Given the description of an element on the screen output the (x, y) to click on. 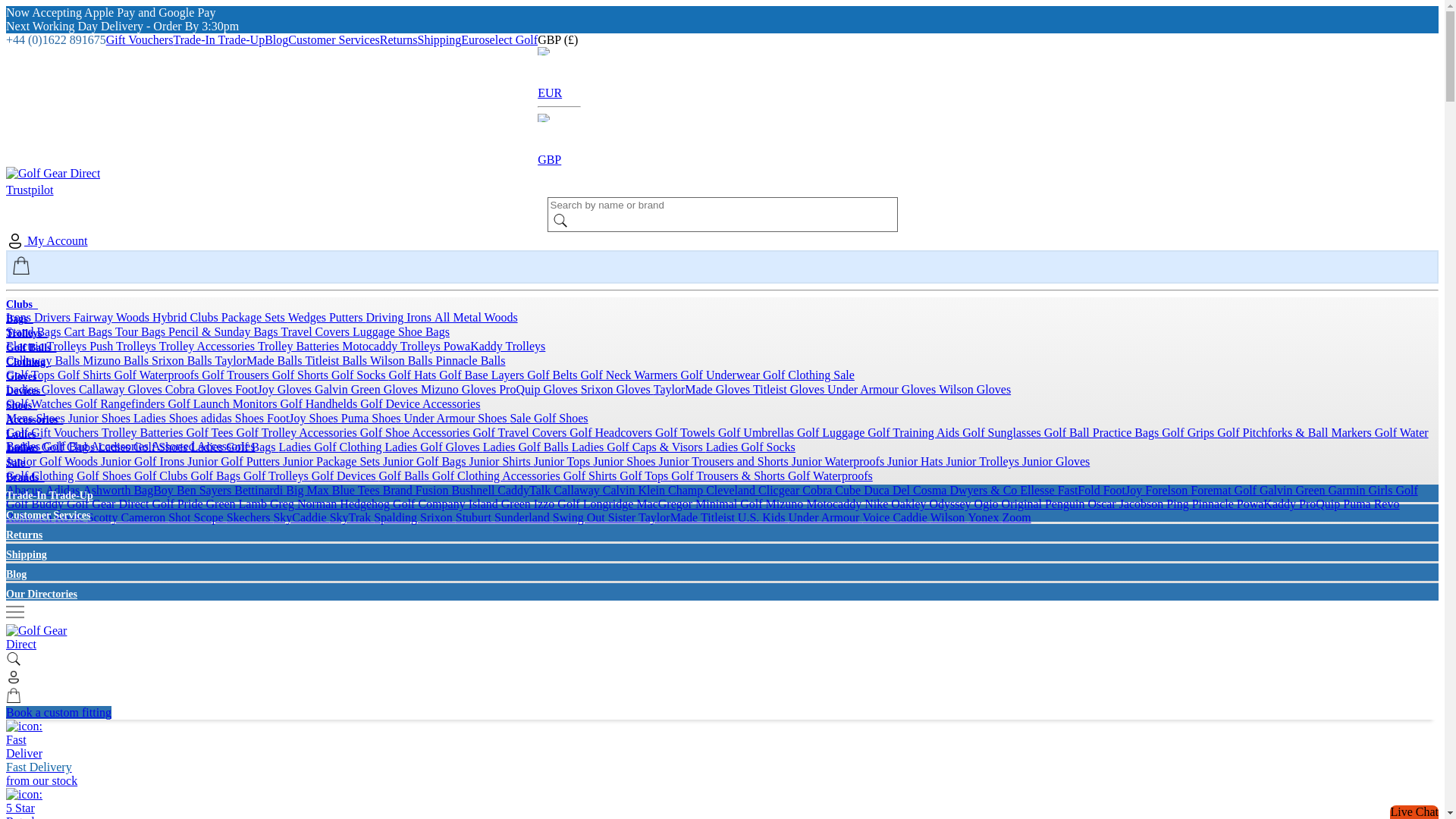
Putters (347, 317)
Fairway Woods (113, 317)
Driving Irons (399, 317)
Clubs   (21, 304)
EUR (558, 85)
Switch to GBP currency (558, 153)
Shoe Bags (423, 331)
Electric Trolleys (46, 345)
PowaKaddy Trolleys (495, 345)
Drivers (53, 317)
Irons (19, 317)
Stand Bags (34, 331)
All Metal Woods (475, 317)
Cart Bags (89, 331)
Prices displayed in GBP (558, 39)
